Given the description of an element on the screen output the (x, y) to click on. 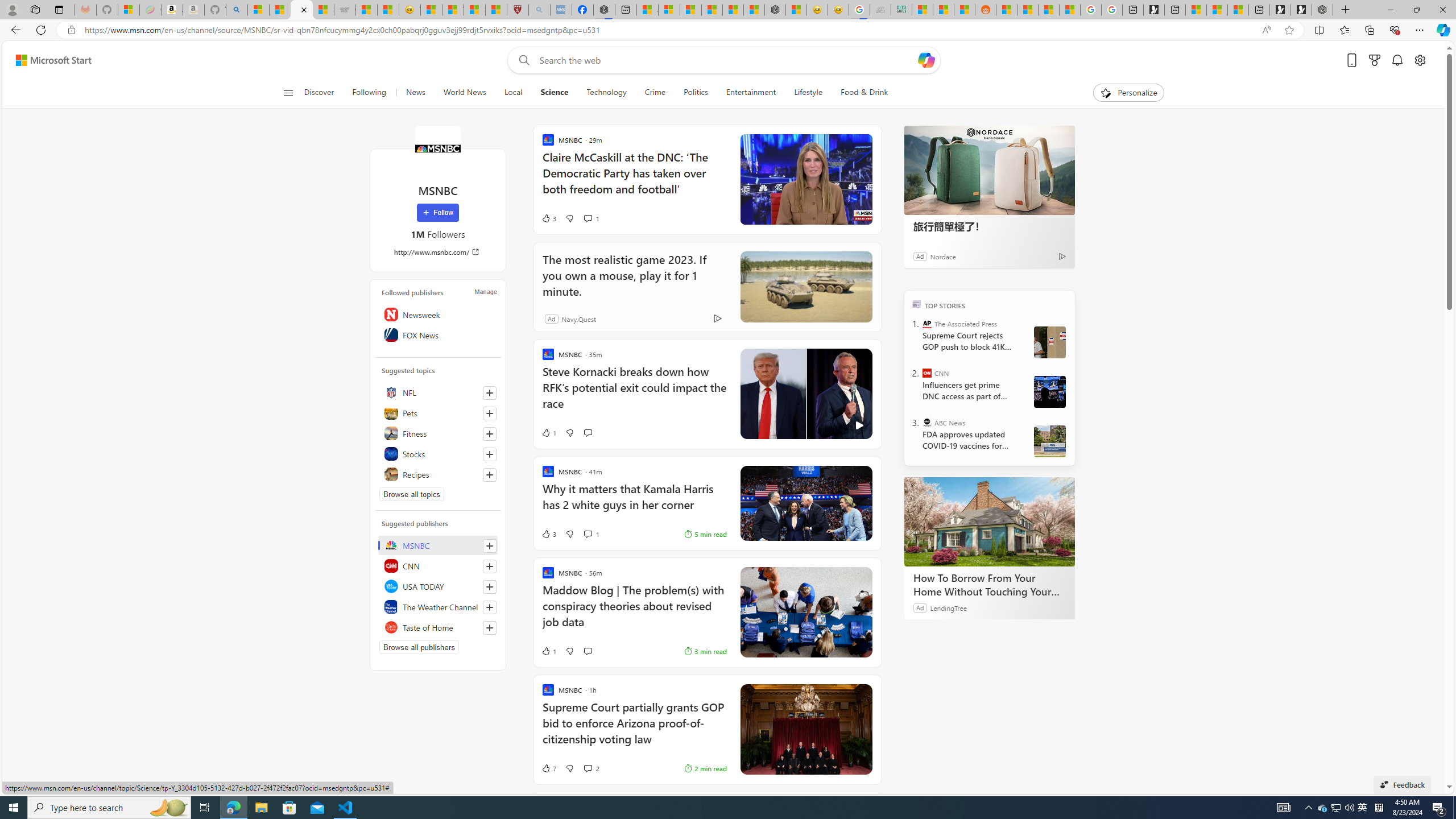
ABC News (927, 422)
Ad (551, 318)
Fitness (437, 433)
 ATS_2336.jpg (1049, 391)
http://www.msnbc.com/ (438, 251)
Start the conversation (587, 651)
Nordace - Nordace Siena Is Not An Ordinary Backpack (1322, 9)
7 Like (547, 768)
Taste of Home (437, 627)
Follow (437, 212)
